Given the description of an element on the screen output the (x, y) to click on. 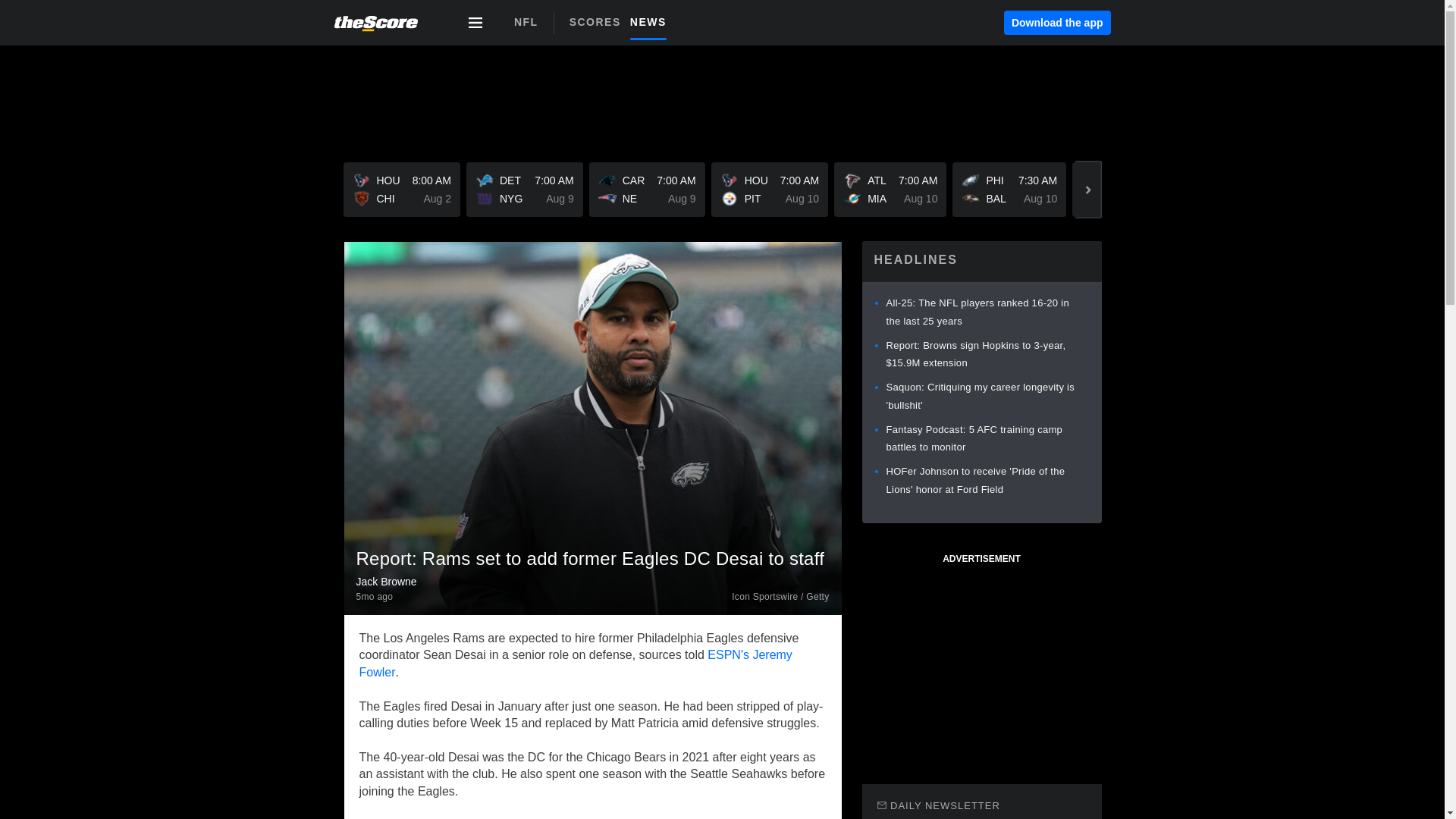
Download the app (1057, 22)
3rd party ad content - leaderboard (401, 189)
NEWS (721, 94)
NFL (652, 21)
3rd party ad content - bigboxDesktop (525, 22)
2024-02-25T19:59:55.000Z (980, 658)
SCORES (374, 596)
